Given the description of an element on the screen output the (x, y) to click on. 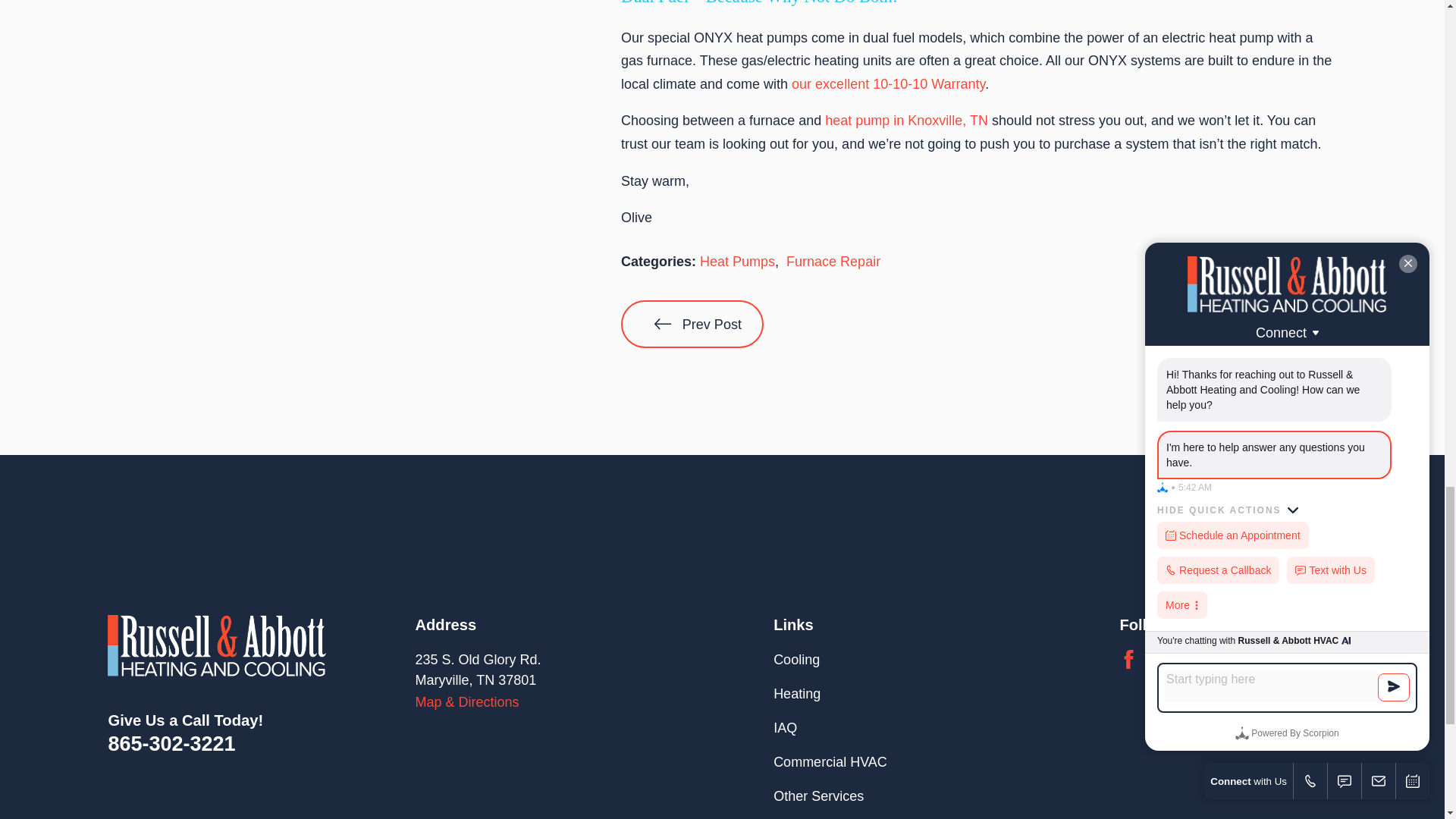
Home (216, 645)
Facebook (1128, 659)
